Given the description of an element on the screen output the (x, y) to click on. 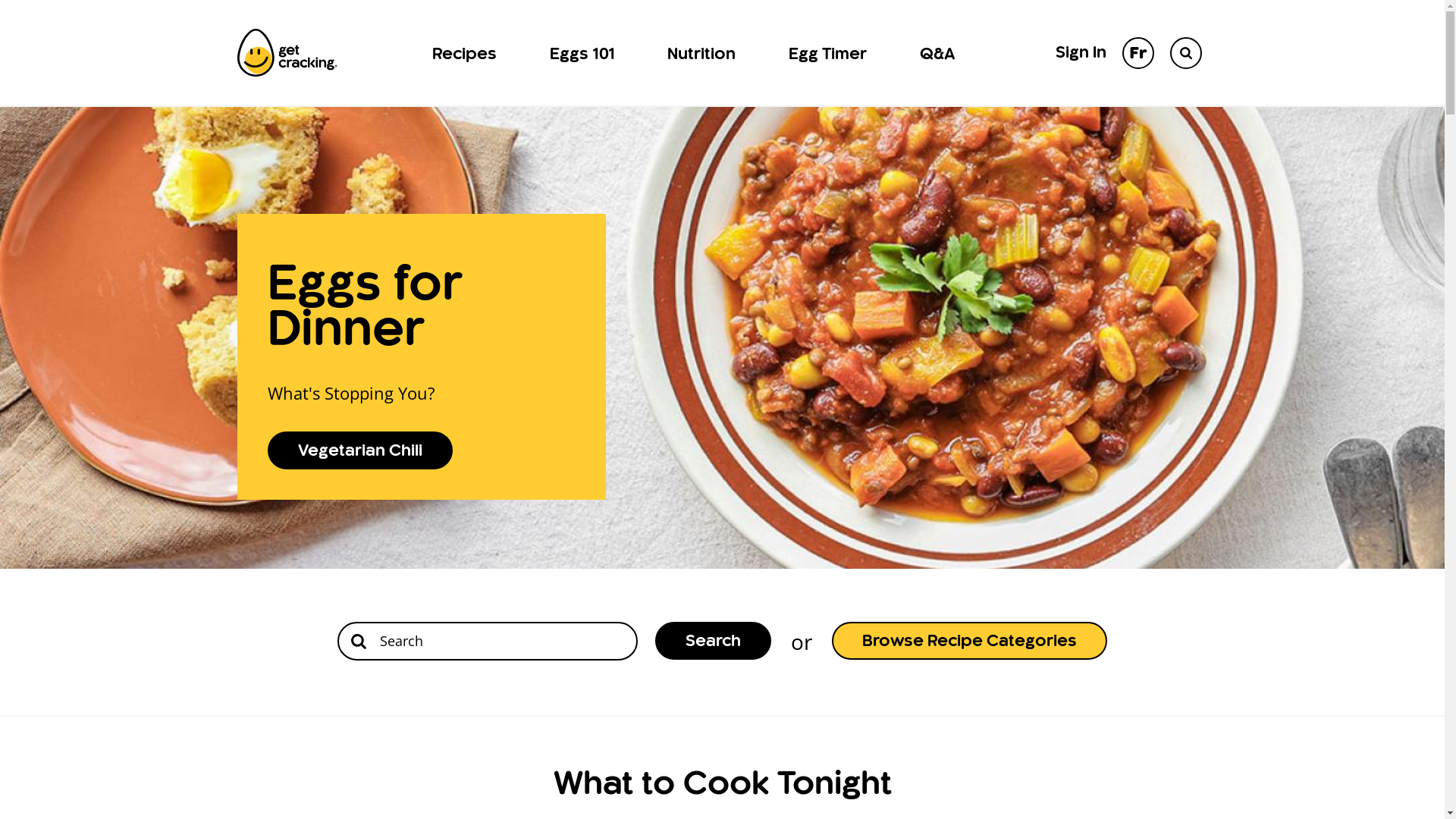
Search Element type: text (713, 640)
Browse Recipe Categories Element type: text (969, 640)
Nutrition Element type: text (701, 52)
Recipes Element type: text (464, 52)
Search Element type: hover (1184, 51)
Vegetarian Chili Element type: text (358, 449)
Sign In Element type: text (1080, 52)
Q&A Element type: text (937, 52)
Egg Timer Element type: text (827, 52)
Eggs 101 Element type: text (581, 52)
Eggs.ca Element type: hover (286, 52)
